Given the description of an element on the screen output the (x, y) to click on. 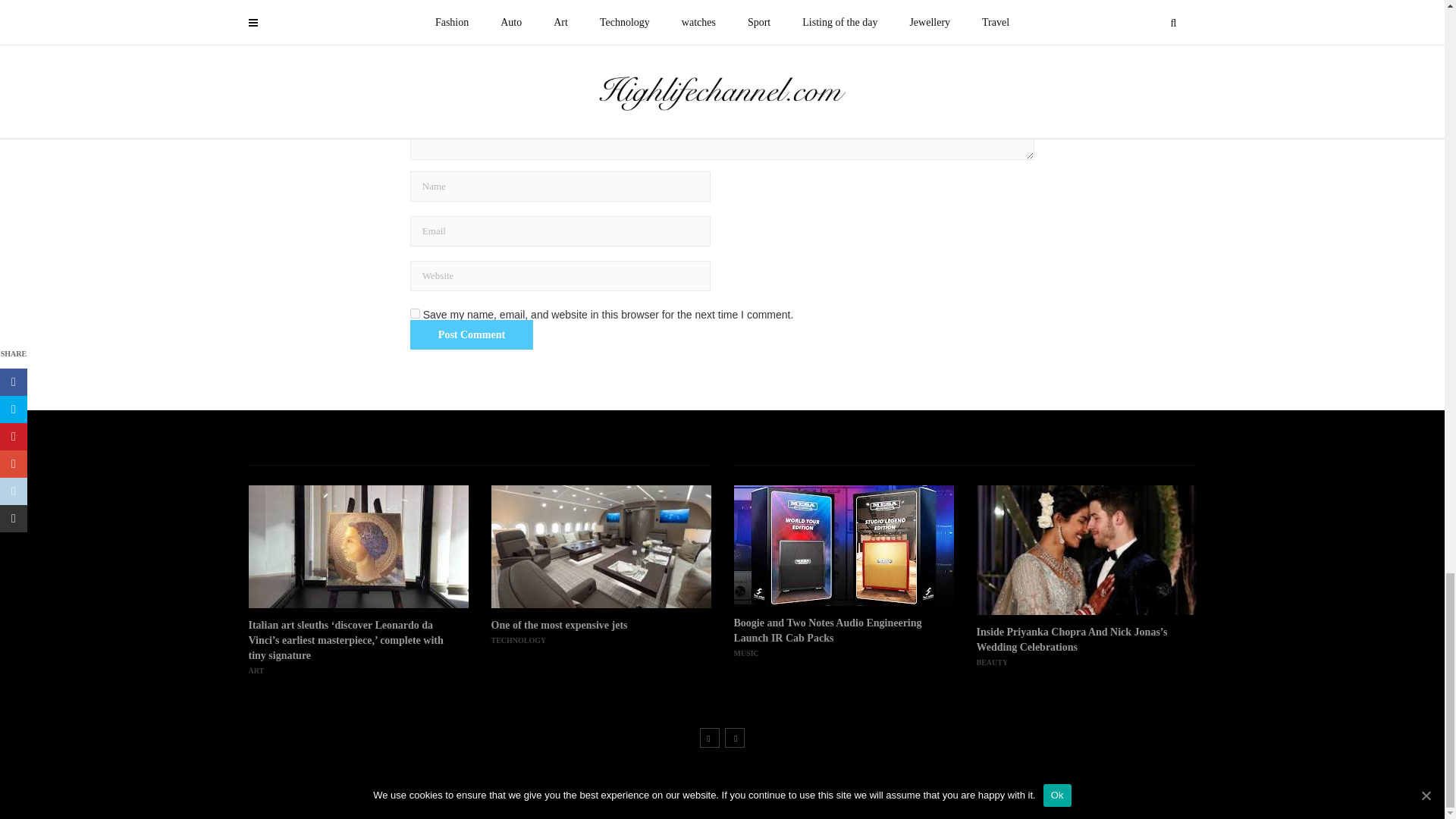
Post Comment (471, 334)
yes (415, 313)
